Given the description of an element on the screen output the (x, y) to click on. 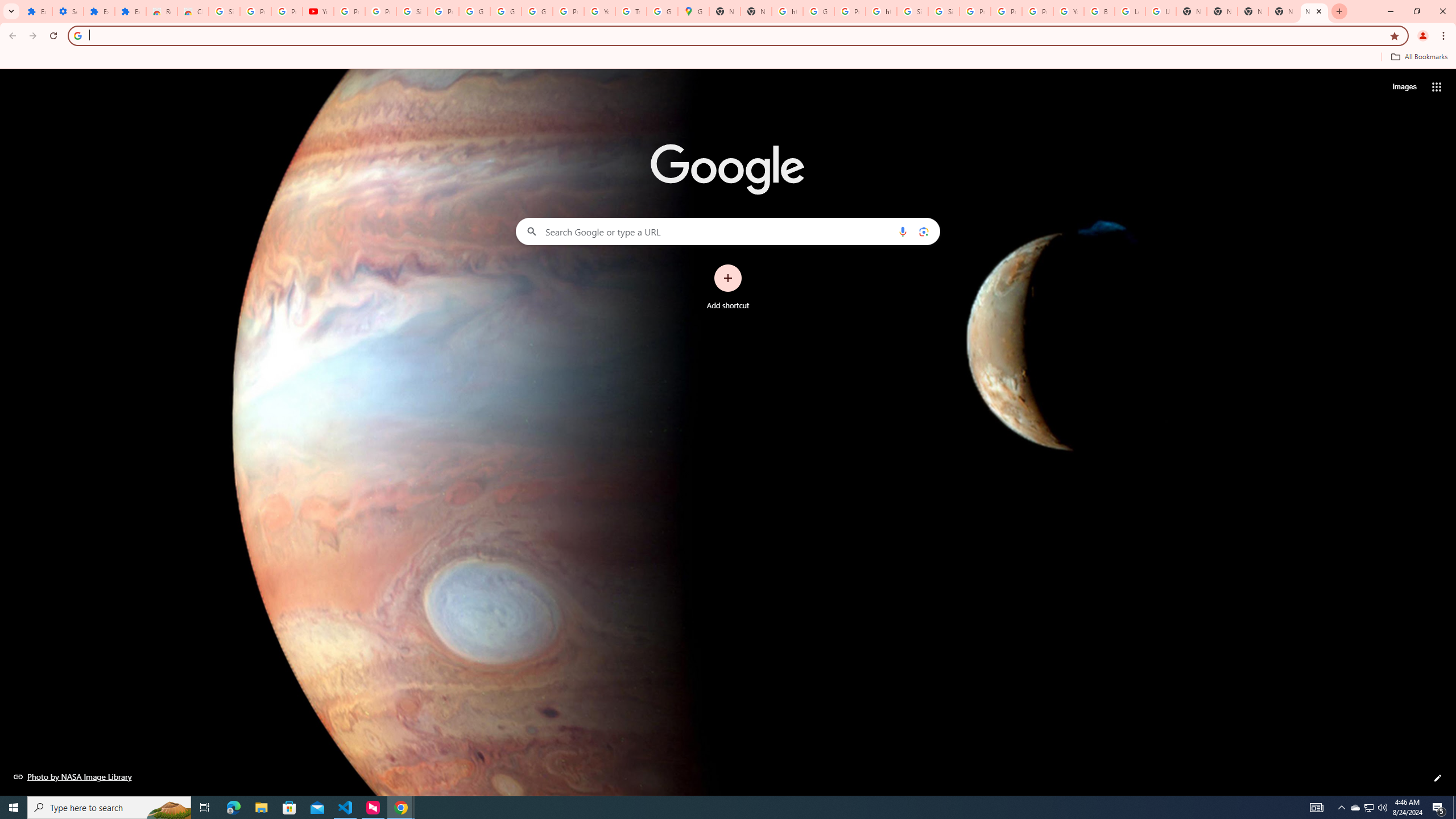
Privacy Help Center - Policies Help (974, 11)
Customize this page (1437, 778)
Sign in - Google Accounts (943, 11)
Sign in - Google Accounts (912, 11)
Google Maps (693, 11)
